Given the description of an element on the screen output the (x, y) to click on. 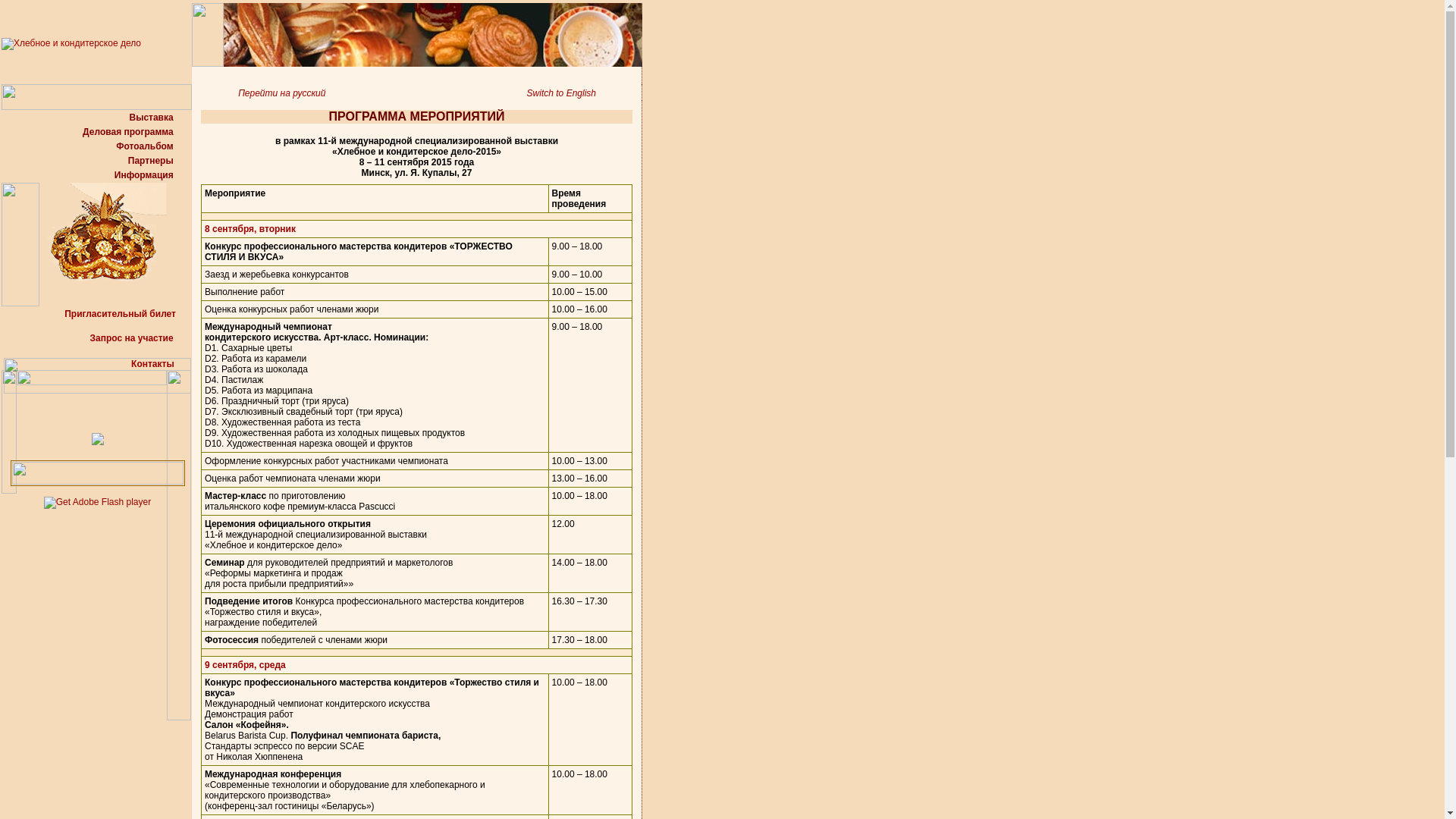
Switch to English Element type: text (584, 92)
